Given the description of an element on the screen output the (x, y) to click on. 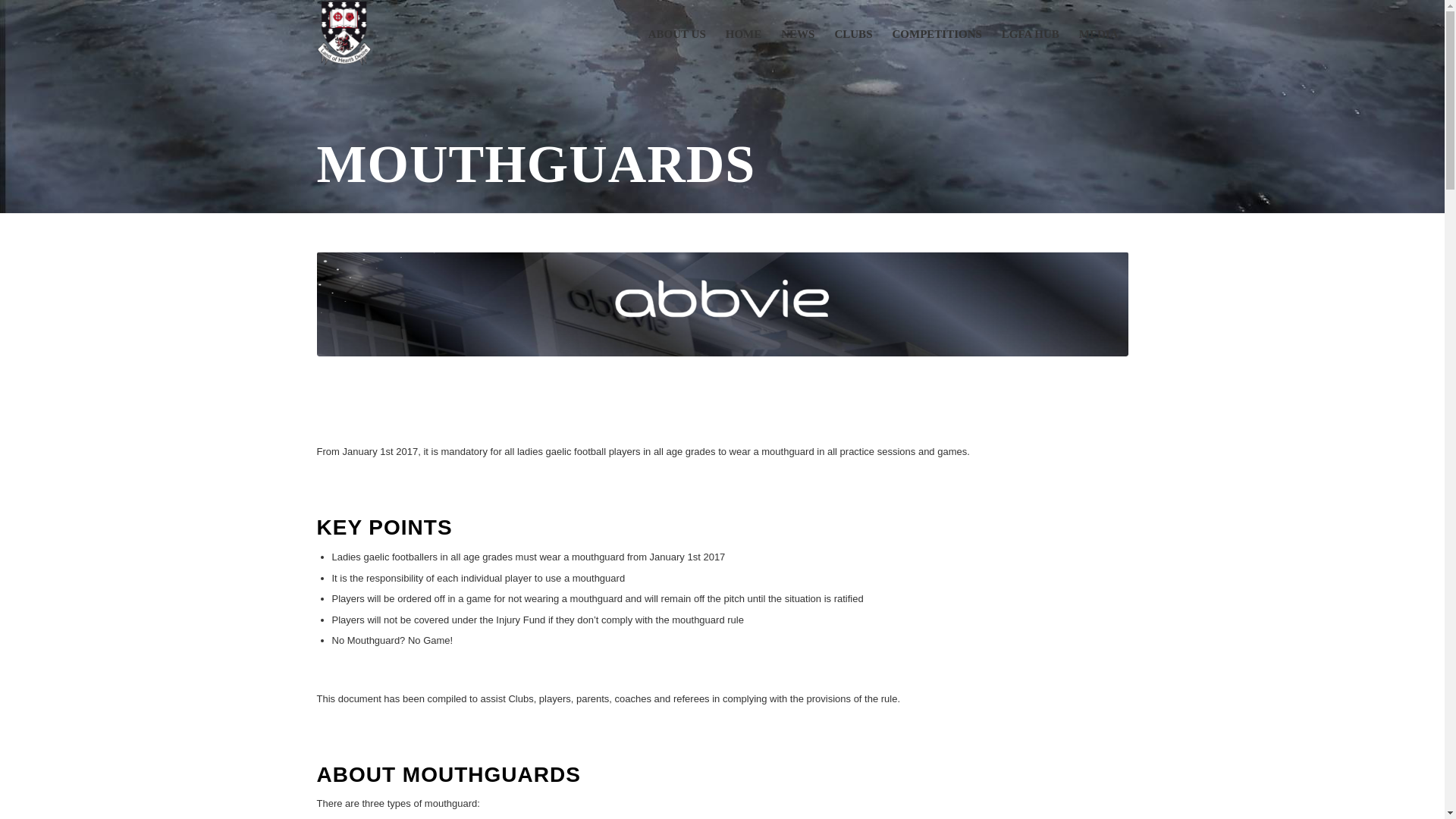
ABOUT US (677, 33)
COMPETITIONS (936, 33)
LGFA HUB (1029, 33)
abbvie (722, 303)
